Given the description of an element on the screen output the (x, y) to click on. 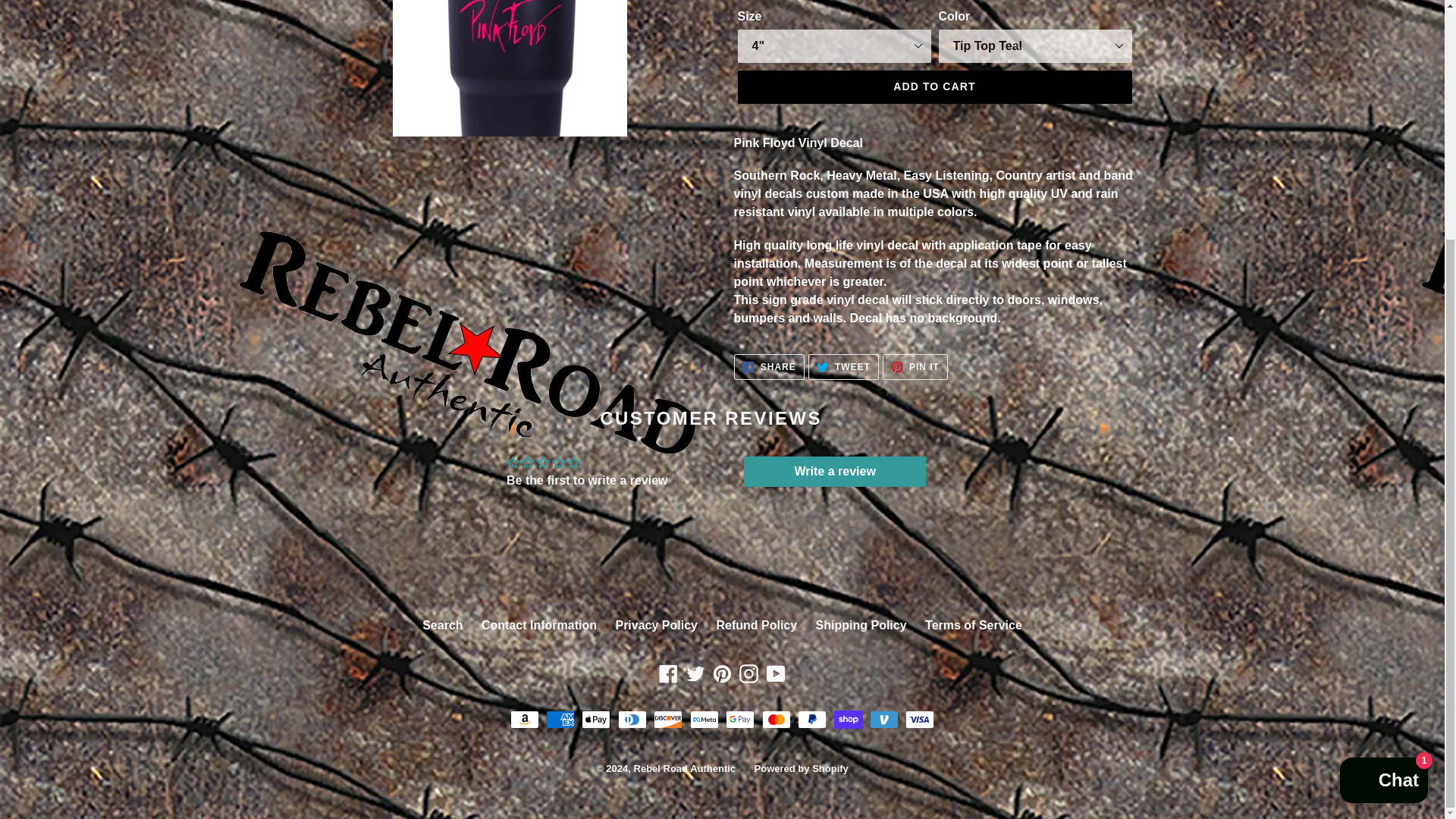
Shopify online store chat (1383, 451)
